Given the description of an element on the screen output the (x, y) to click on. 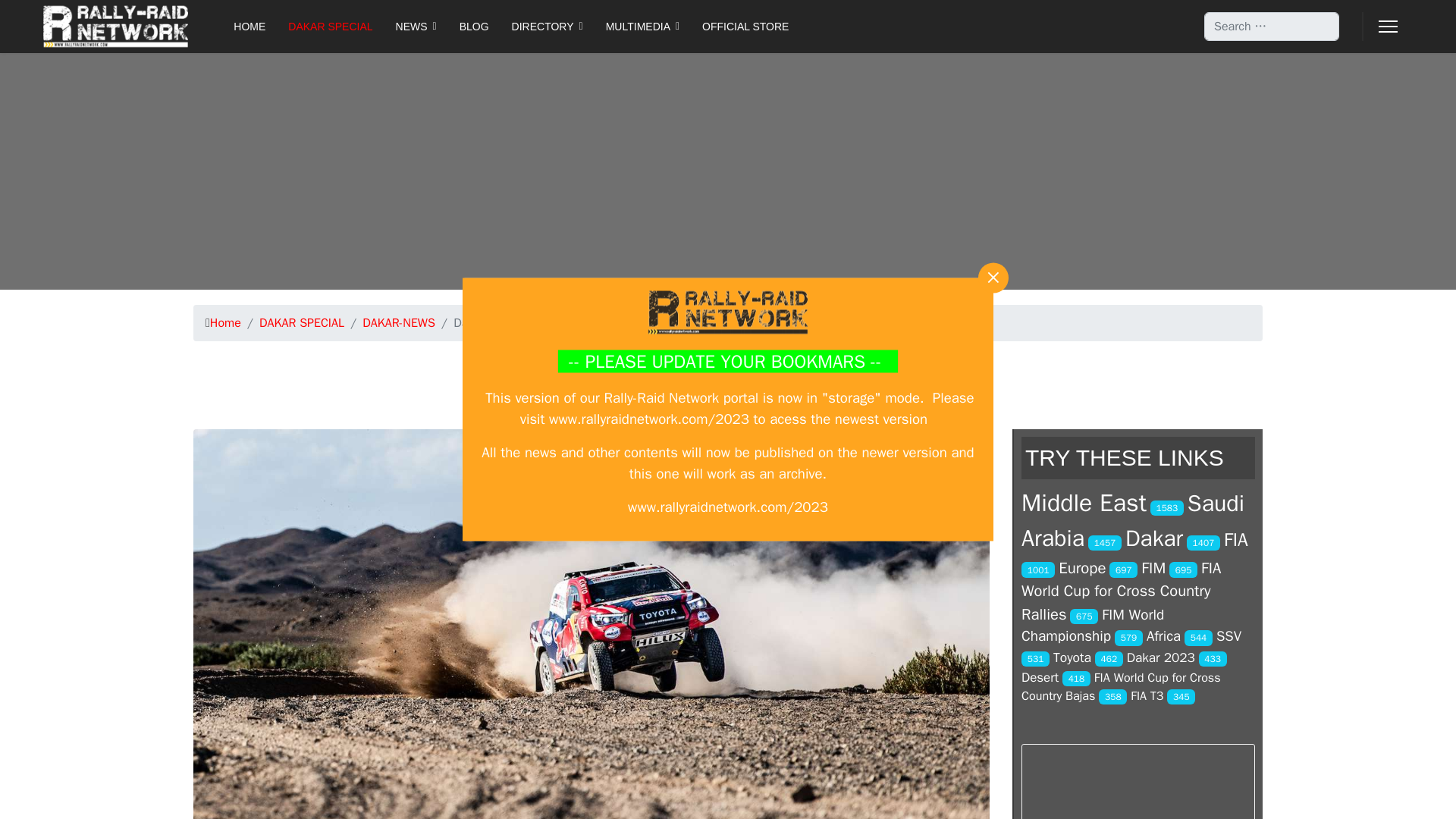
MULTIMEDIA (642, 26)
DAKAR SPECIAL (330, 26)
OFFICIAL STORE (739, 26)
HOME (249, 26)
DIRECTORY (547, 26)
NEWS (416, 26)
BLOG (474, 26)
